Given the description of an element on the screen output the (x, y) to click on. 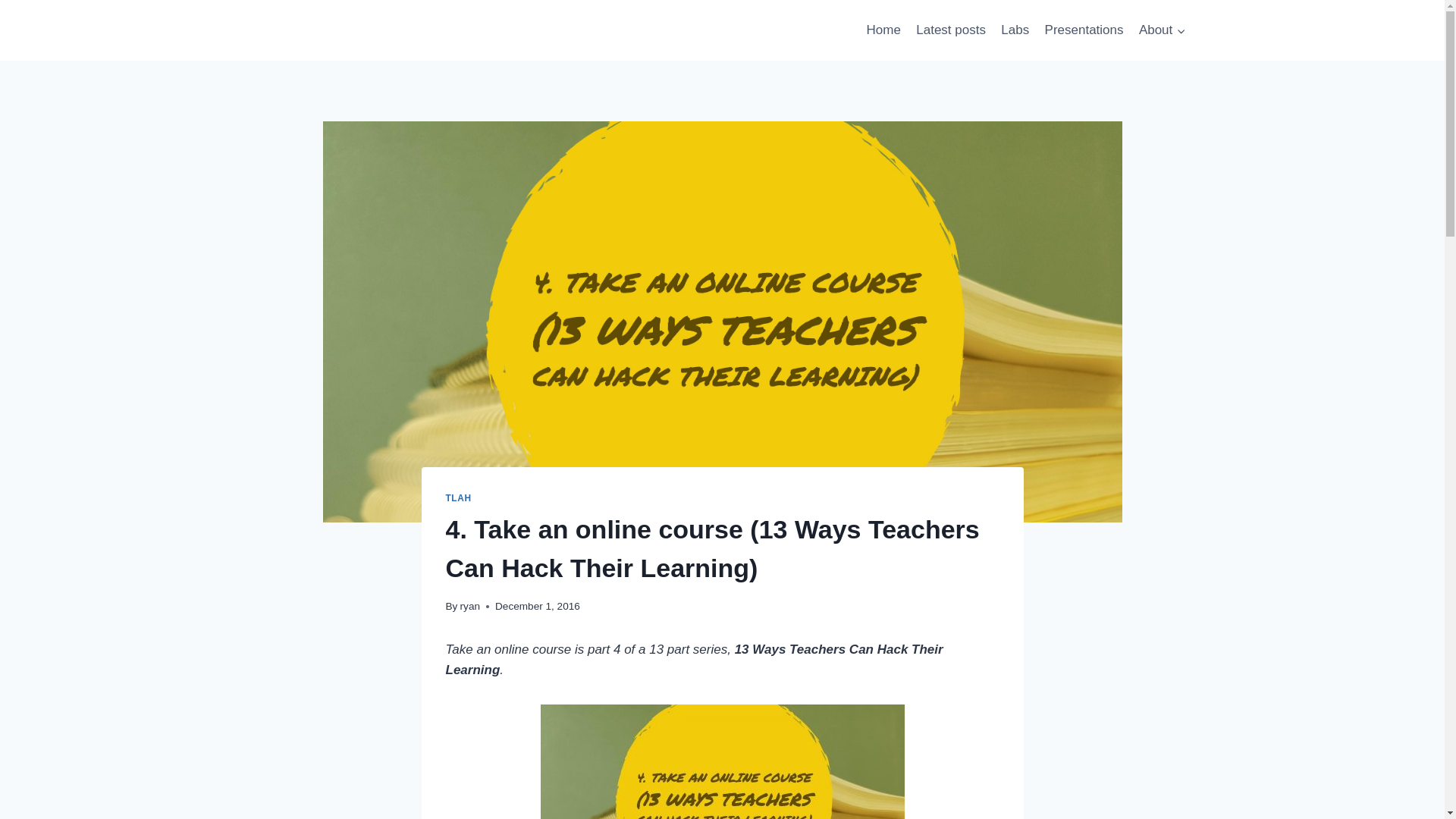
About (1162, 30)
Presentations (1083, 30)
ryan (470, 605)
Home (883, 30)
TLAH (458, 498)
Eduk8me Labs (1014, 30)
Latest posts (950, 30)
Labs (1014, 30)
